Given the description of an element on the screen output the (x, y) to click on. 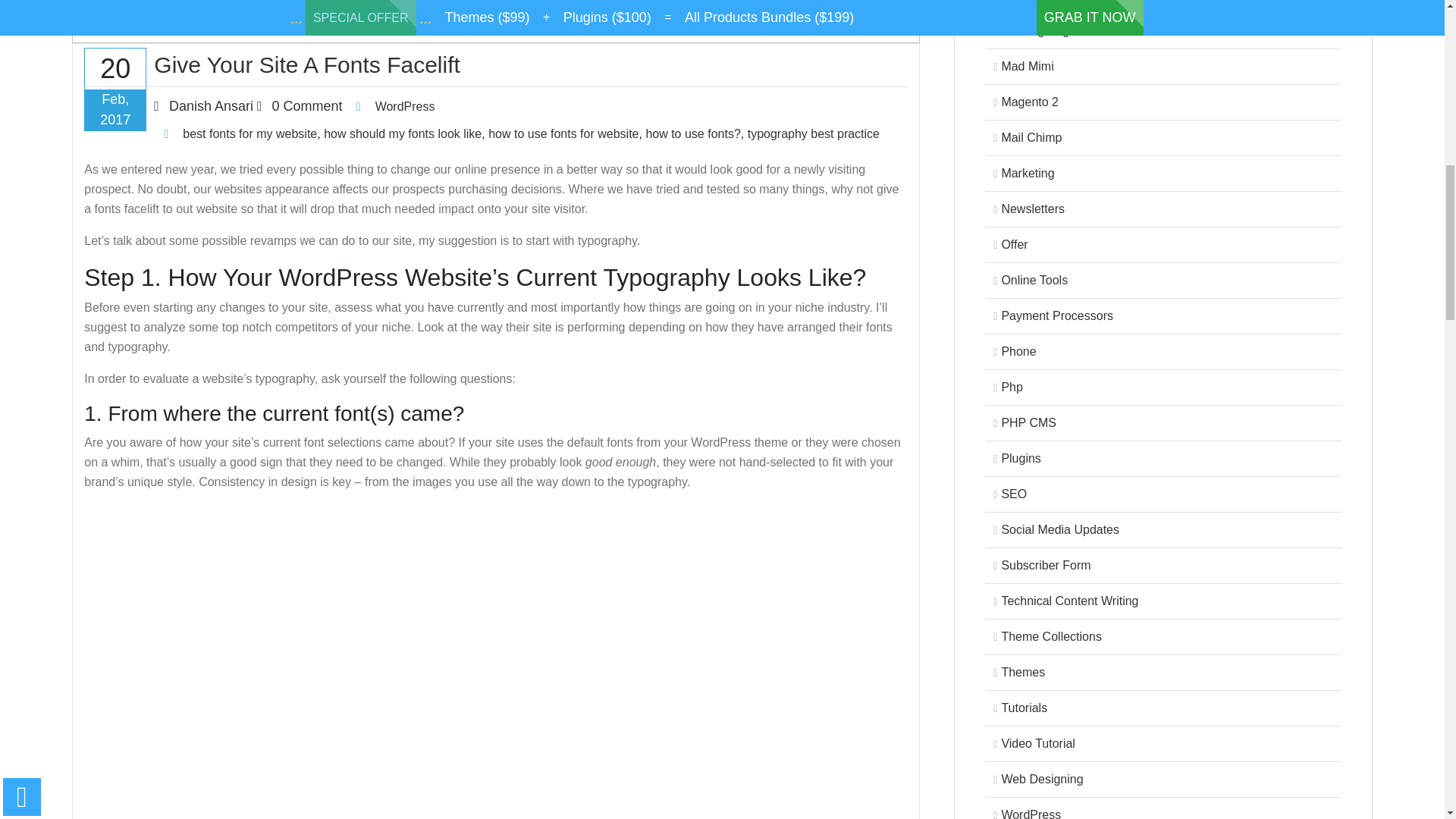
Give Your Site A Fonts Facelift (495, 65)
Give Your Site A Fonts Facelift (495, 65)
WordPress (405, 106)
Posts by Danish Ansari (210, 105)
0 Comment (307, 105)
Danish Ansari (210, 105)
best fonts for my website (250, 133)
